Given the description of an element on the screen output the (x, y) to click on. 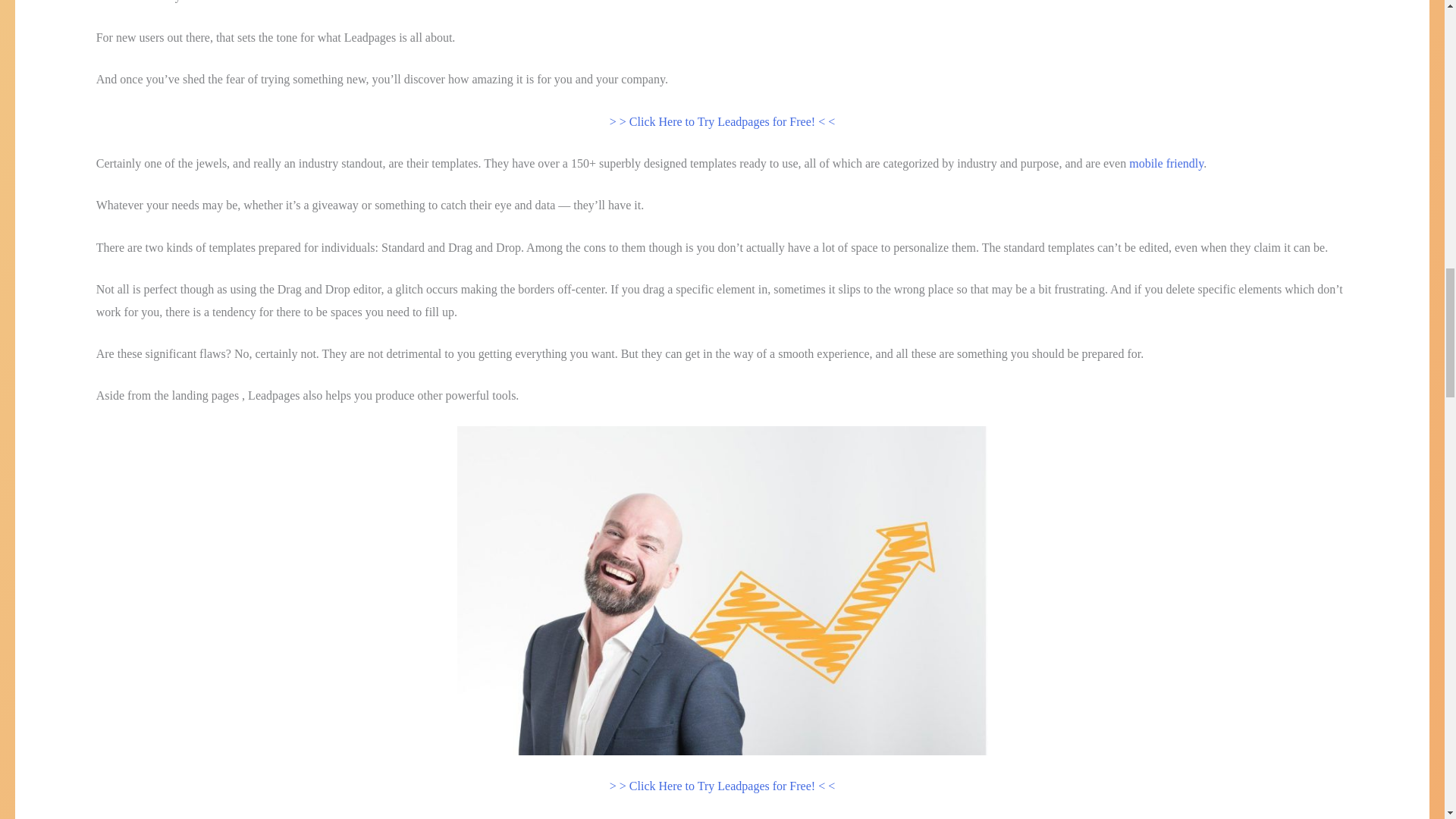
mobile friendly (1166, 163)
